Given the description of an element on the screen output the (x, y) to click on. 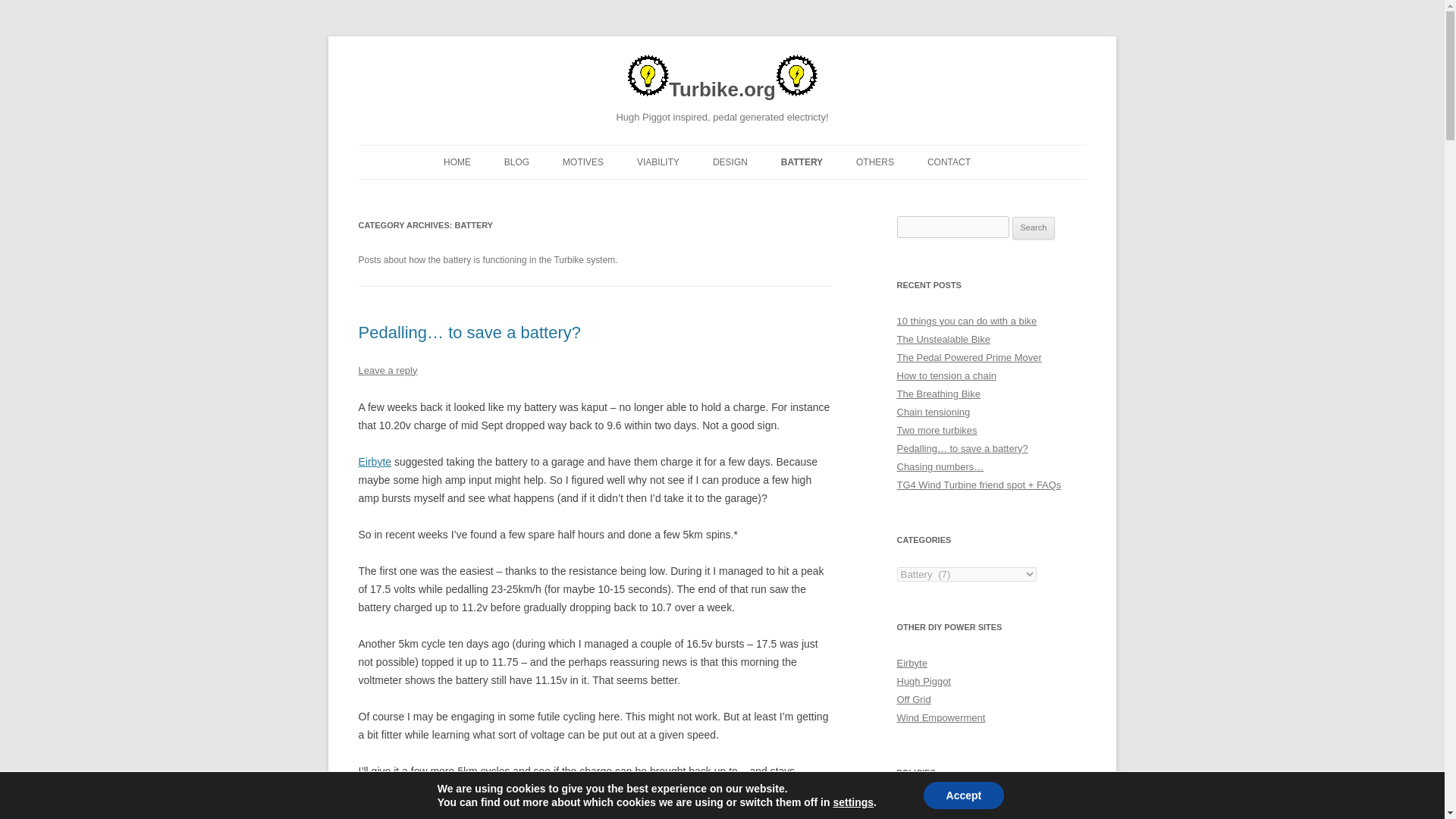
Turbike.org (721, 81)
Eirbyte.com (374, 461)
Turbike.org (721, 81)
MOTIVES (583, 162)
VIABILITY (658, 162)
OTHERS (874, 162)
BATTERY (801, 162)
Eirbyte (374, 461)
Skip to content (757, 149)
CONTACT (949, 162)
